Given the description of an element on the screen output the (x, y) to click on. 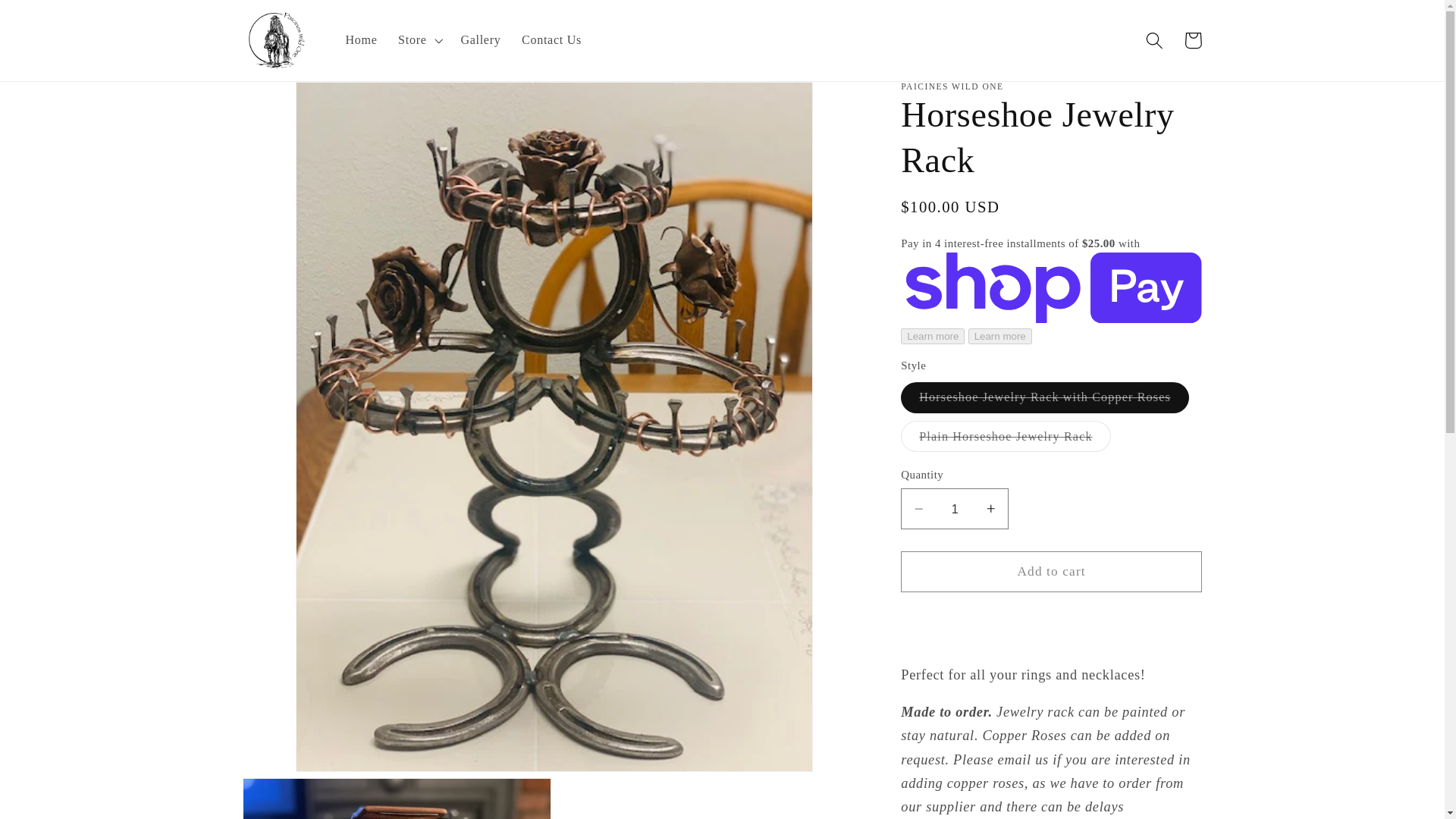
Gallery (480, 40)
Skip to product information (294, 101)
Skip to content (52, 20)
Cart (1192, 40)
Contact Us (551, 40)
1 (955, 508)
Add to cart (1051, 571)
Home (361, 40)
